Given the description of an element on the screen output the (x, y) to click on. 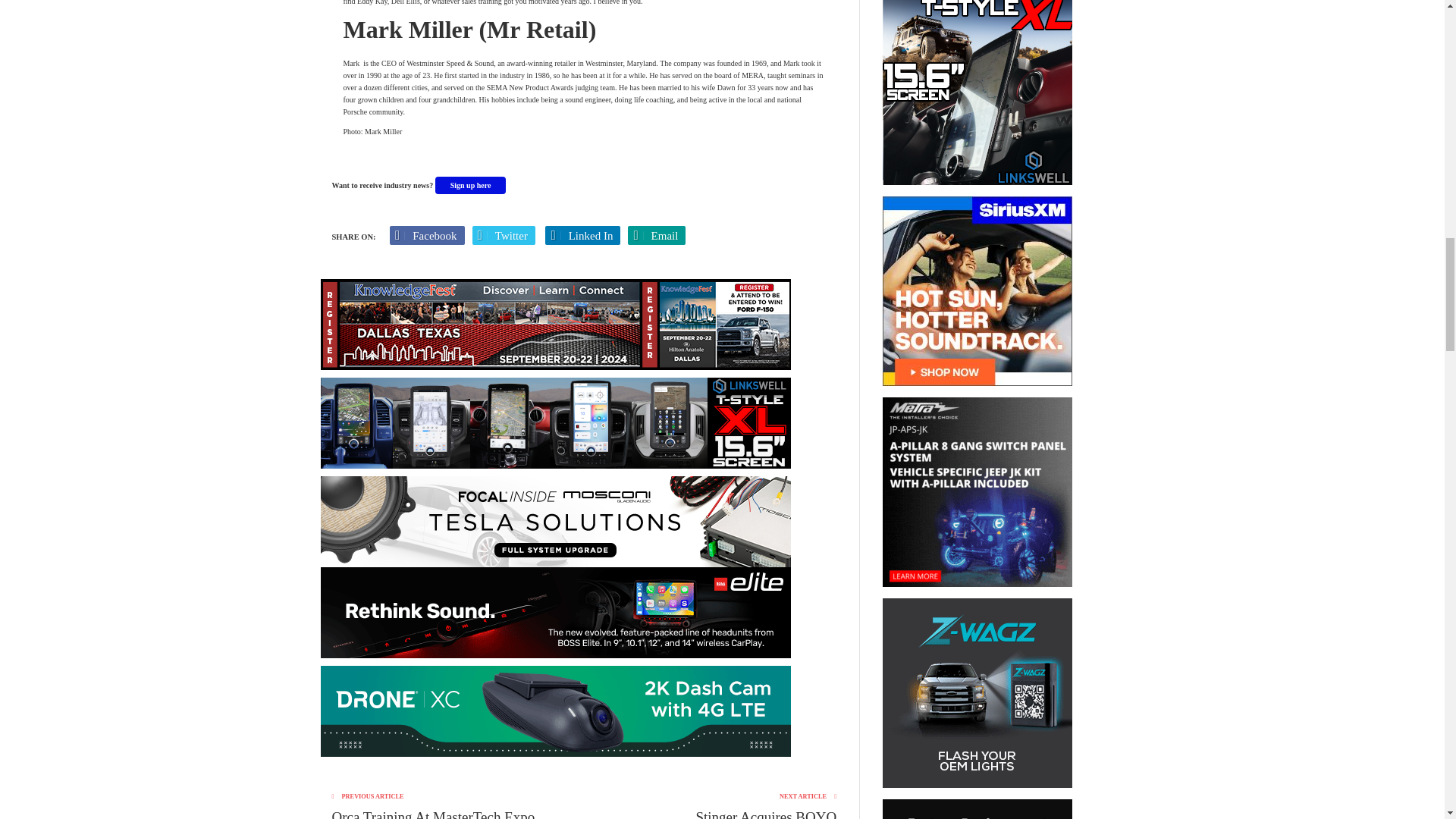
Email (656, 235)
Twitter (503, 235)
Sign up here (470, 185)
Linked In (582, 235)
Facebook (427, 235)
